Given the description of an element on the screen output the (x, y) to click on. 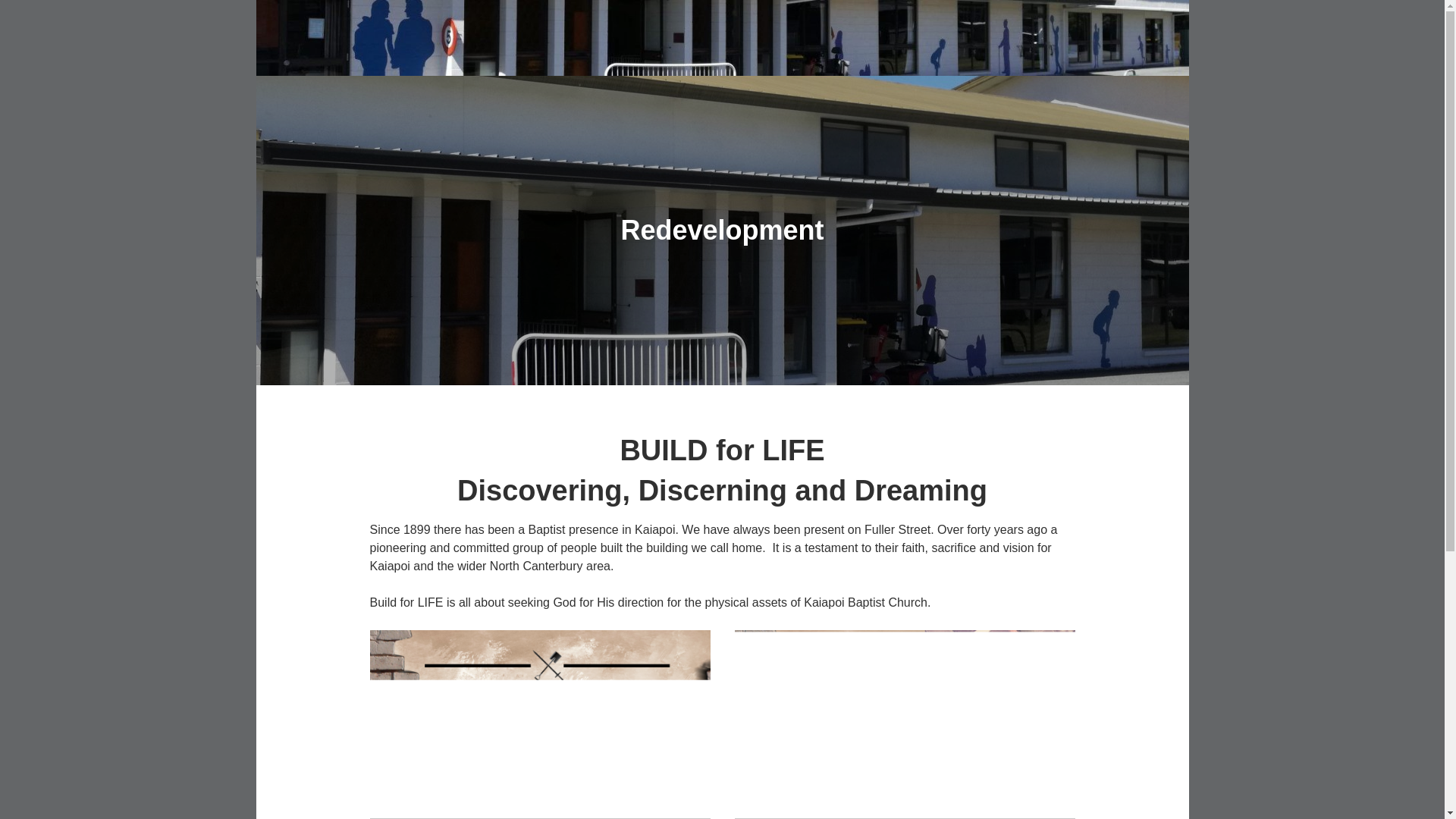
KAIAPOI BAPTIST CHURCH (551, 121)
